Given the description of an element on the screen output the (x, y) to click on. 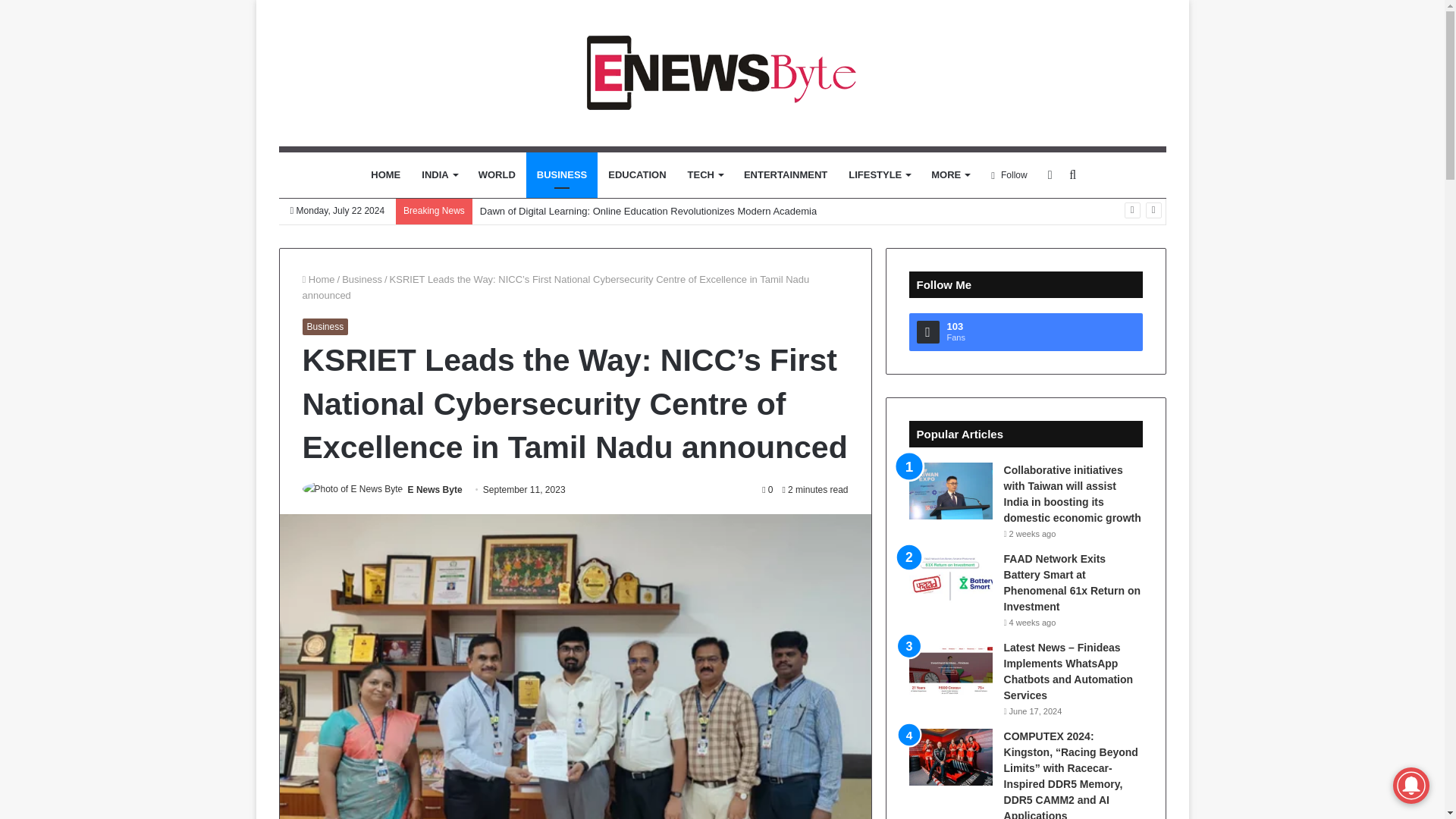
ENTERTAINMENT (785, 175)
MORE (949, 175)
BUSINESS (560, 175)
HOME (384, 175)
LIFESTYLE (879, 175)
Follow (1008, 175)
WORLD (496, 175)
EDUCATION (636, 175)
E News Byte (435, 489)
Sidebar (1050, 175)
E News Byte (721, 72)
INDIA (438, 175)
Home (317, 279)
Search for (1072, 175)
